Given the description of an element on the screen output the (x, y) to click on. 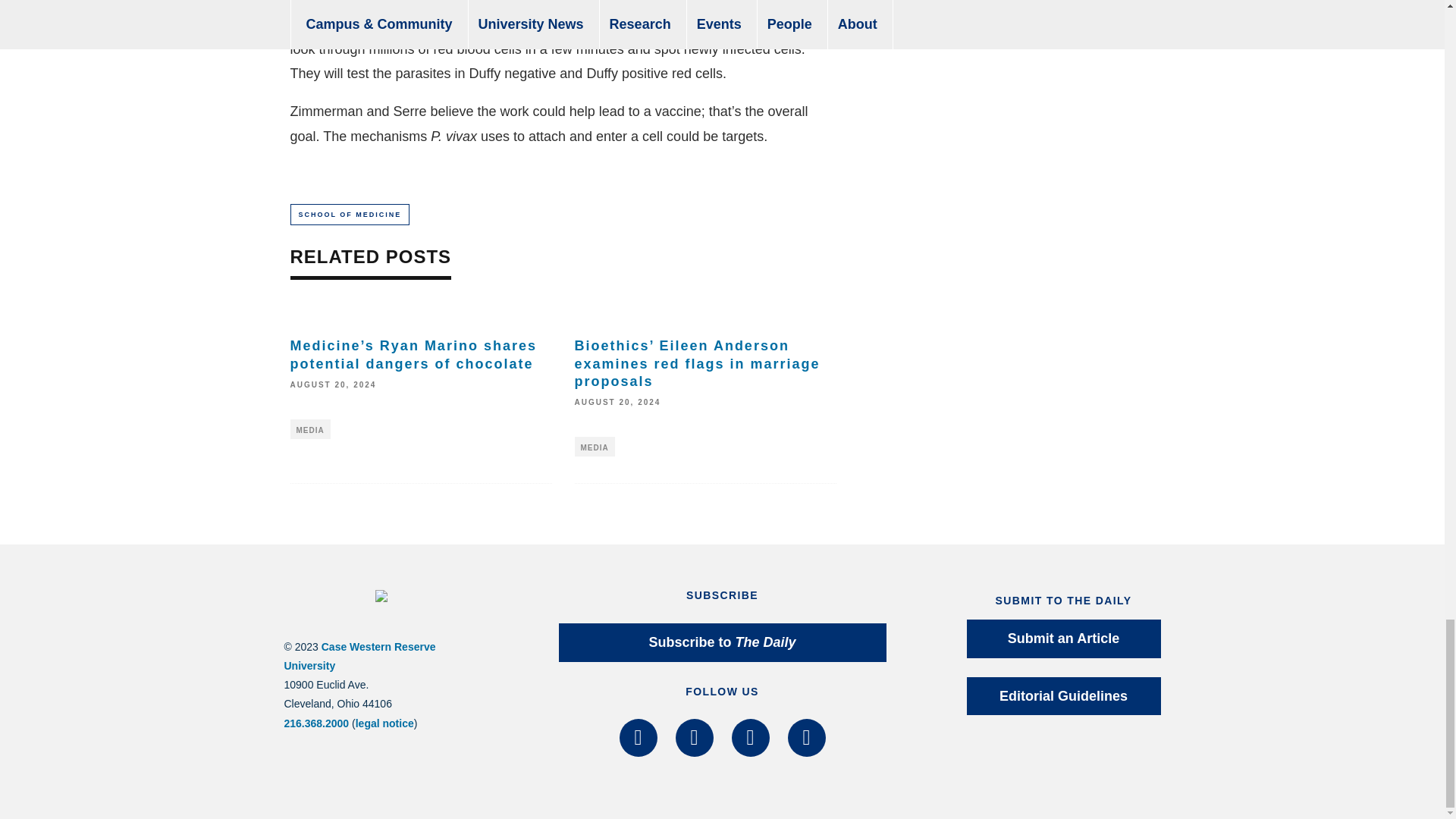
MEDIA (309, 428)
SCHOOL OF MEDICINE (349, 214)
MEDIA (594, 446)
